Given the description of an element on the screen output the (x, y) to click on. 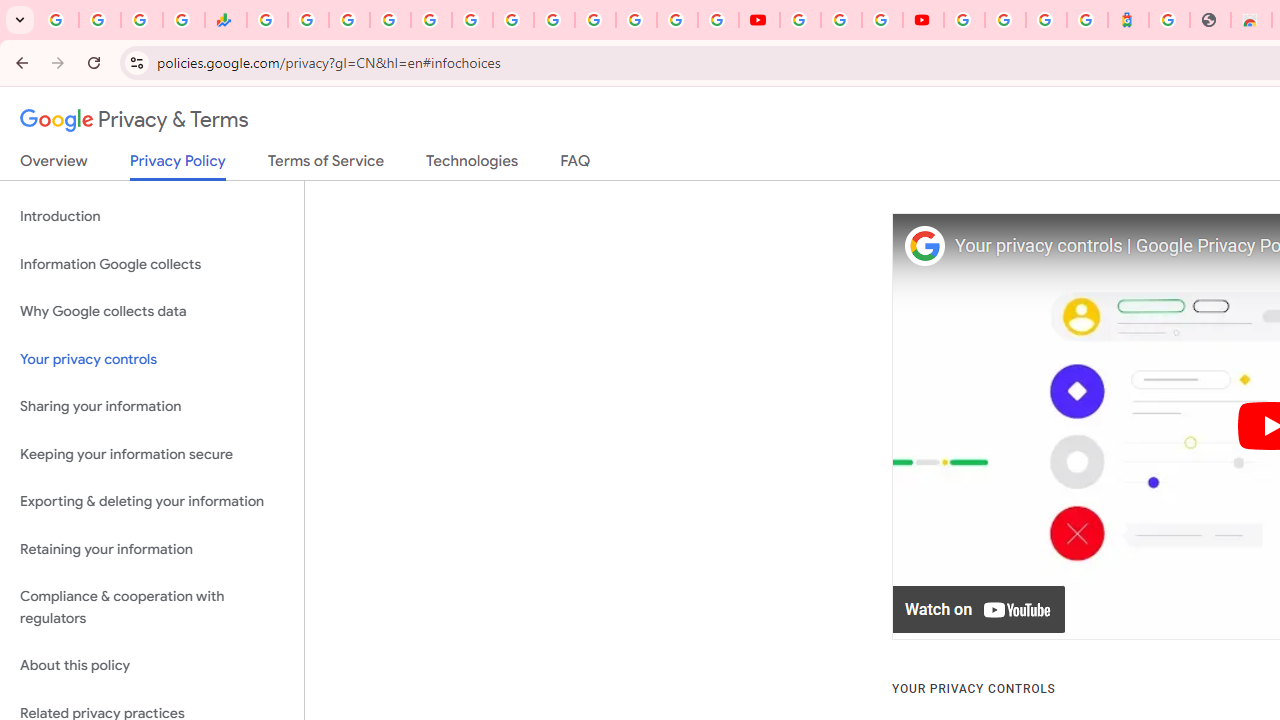
Watch on YouTube (979, 610)
Sign in - Google Accounts (389, 20)
Sign in - Google Accounts (594, 20)
Content Creator Programs & Opportunities - YouTube Creators (923, 20)
Android TV Policies and Guidelines - Transparency Center (512, 20)
